Given the description of an element on the screen output the (x, y) to click on. 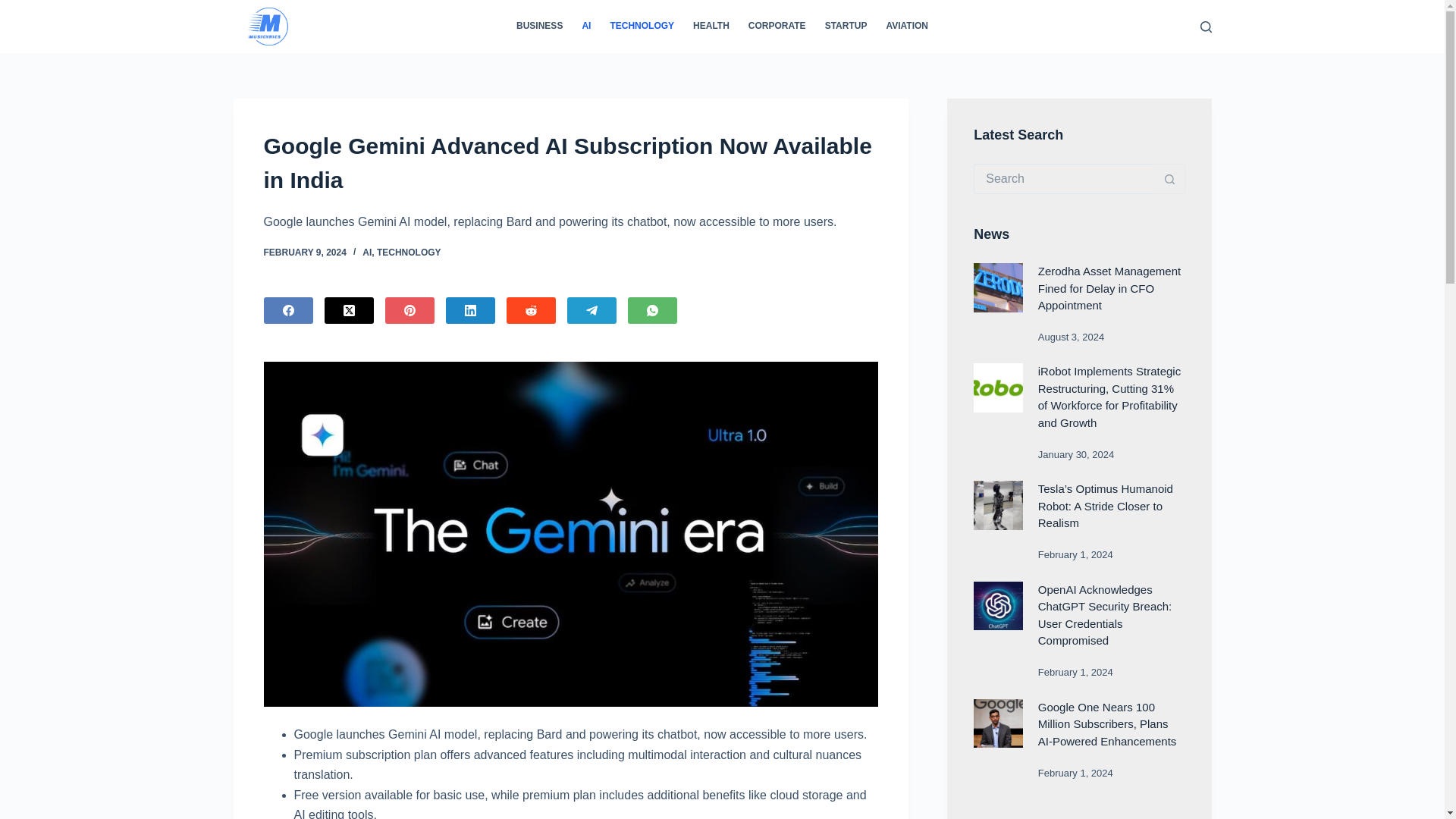
TECHNOLOGY (409, 252)
TECHNOLOGY (641, 26)
Search for... (1064, 178)
BUSINESS (539, 26)
STARTUP (845, 26)
Skip to content (15, 7)
AVIATION (906, 26)
CORPORATE (776, 26)
HEALTH (711, 26)
